Given the description of an element on the screen output the (x, y) to click on. 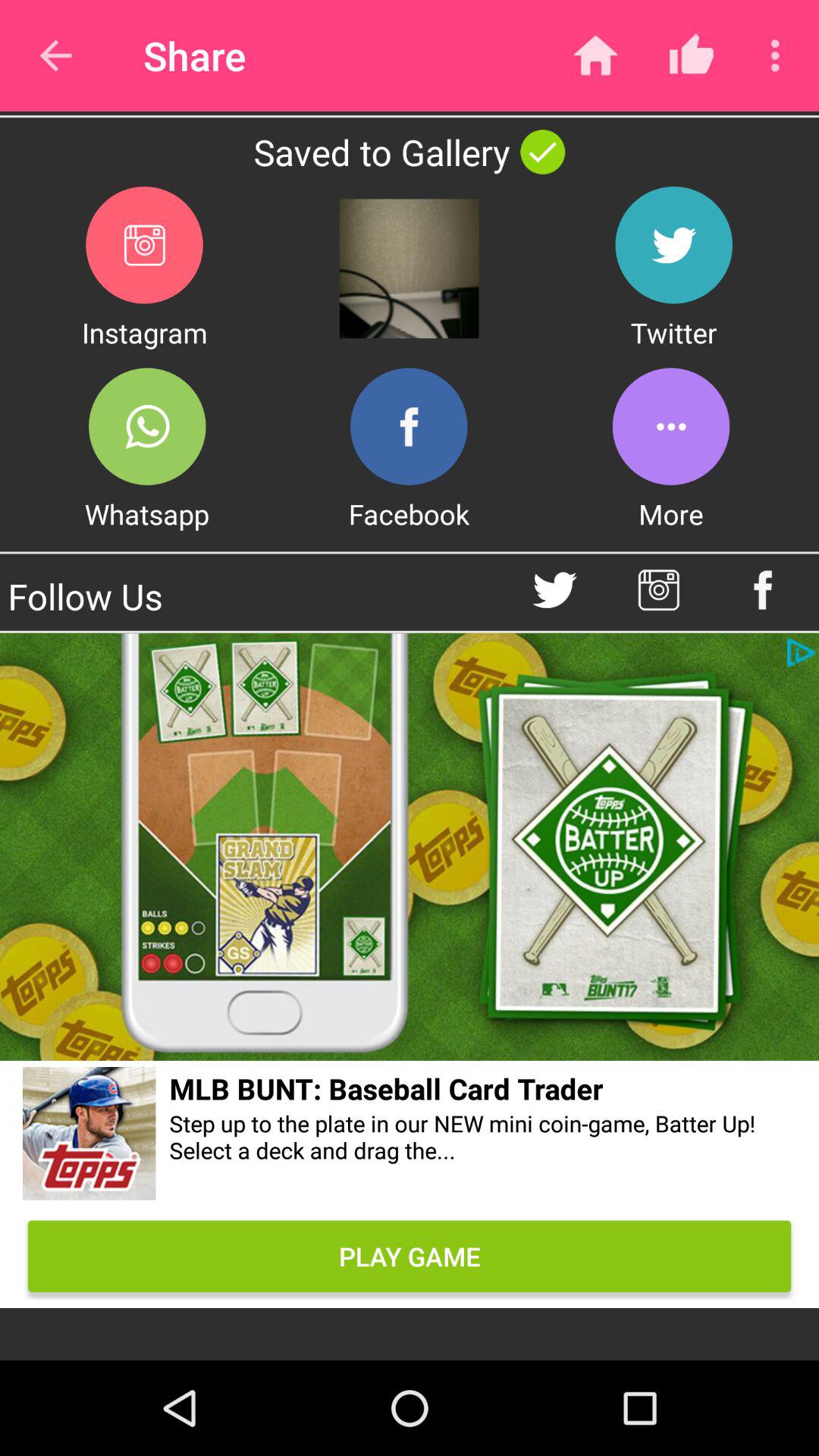
facebook (408, 426)
